Given the description of an element on the screen output the (x, y) to click on. 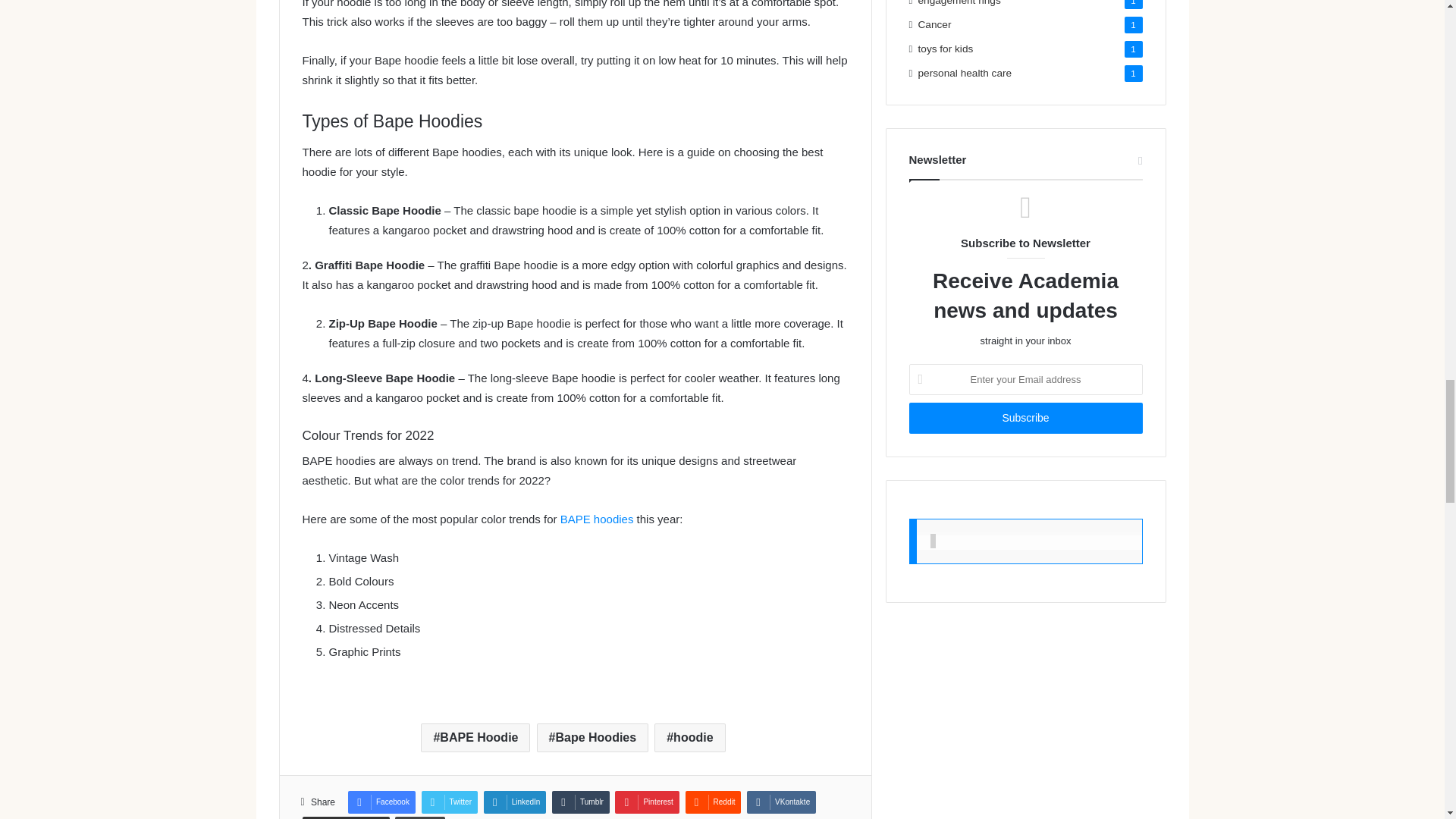
Tumblr (580, 802)
Subscribe (1025, 418)
Print (419, 817)
LinkedIn (515, 802)
Facebook (380, 802)
Bape Hoodies (593, 737)
Reddit (713, 802)
Facebook (380, 802)
VKontakte (780, 802)
hoodie (689, 737)
BAPE Hoodie (474, 737)
Pinterest (646, 802)
Share via Email (344, 817)
Twitter (449, 802)
LinkedIn (515, 802)
